Given the description of an element on the screen output the (x, y) to click on. 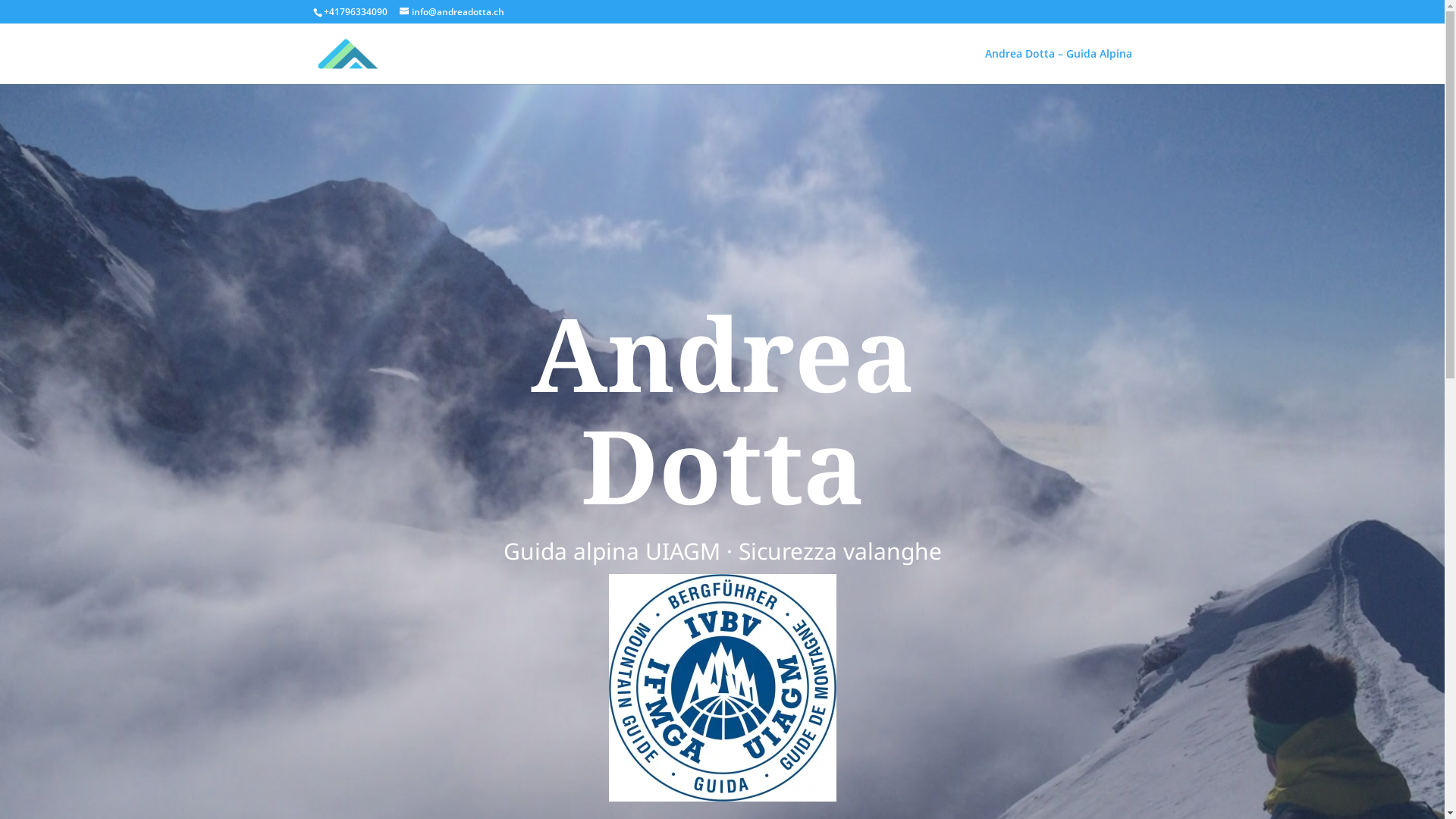
info@andreadotta.ch Element type: text (450, 11)
